Given the description of an element on the screen output the (x, y) to click on. 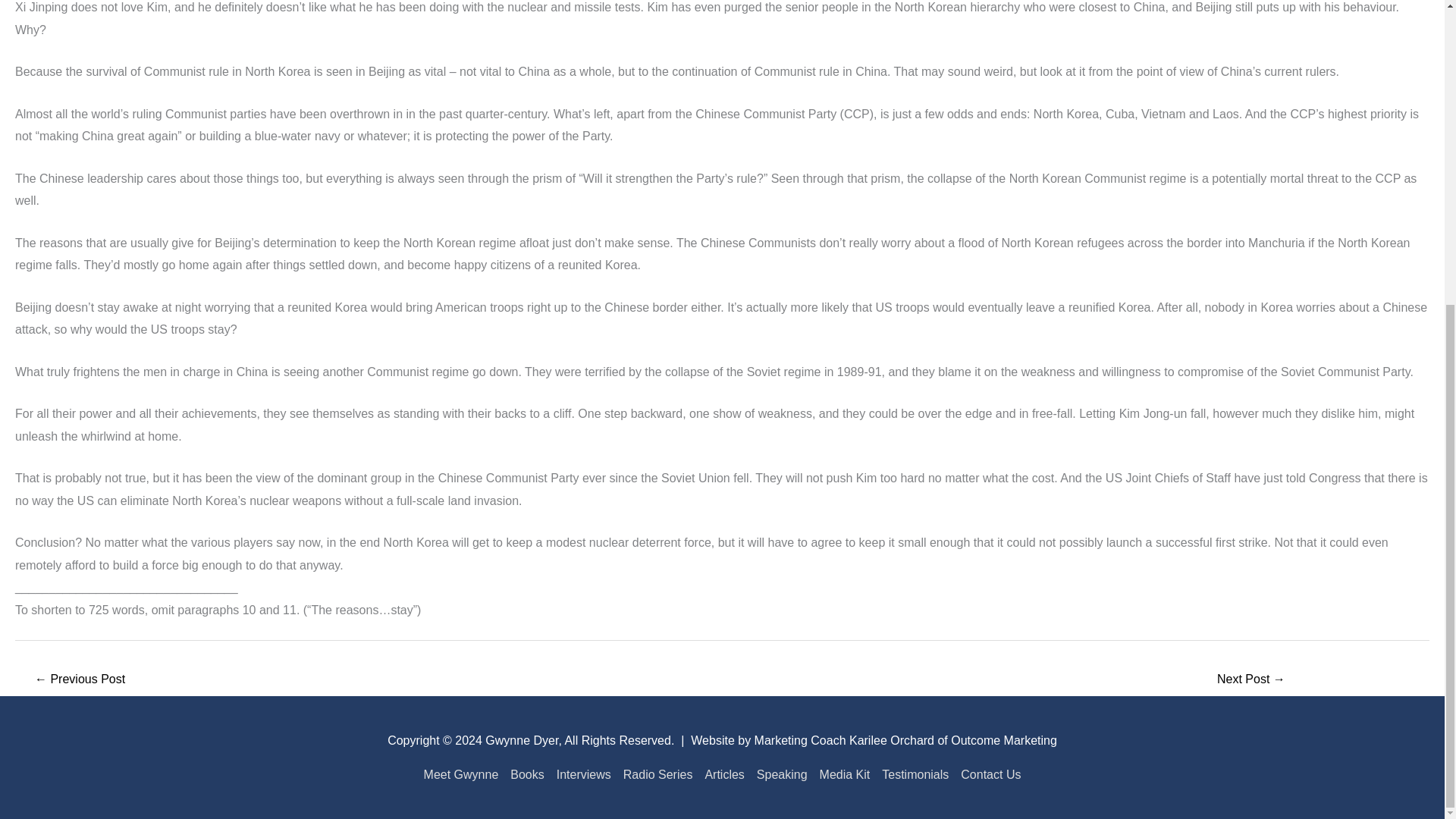
Speaking (782, 774)
Radio Series (657, 774)
Testimonials (915, 774)
Media Kit (844, 774)
DisGrace (1251, 680)
Articles (723, 774)
Books (526, 774)
Contact Us (987, 774)
Interviews (583, 774)
Meet Gwynne (464, 774)
The Great October Revolution (79, 680)
